Given the description of an element on the screen output the (x, y) to click on. 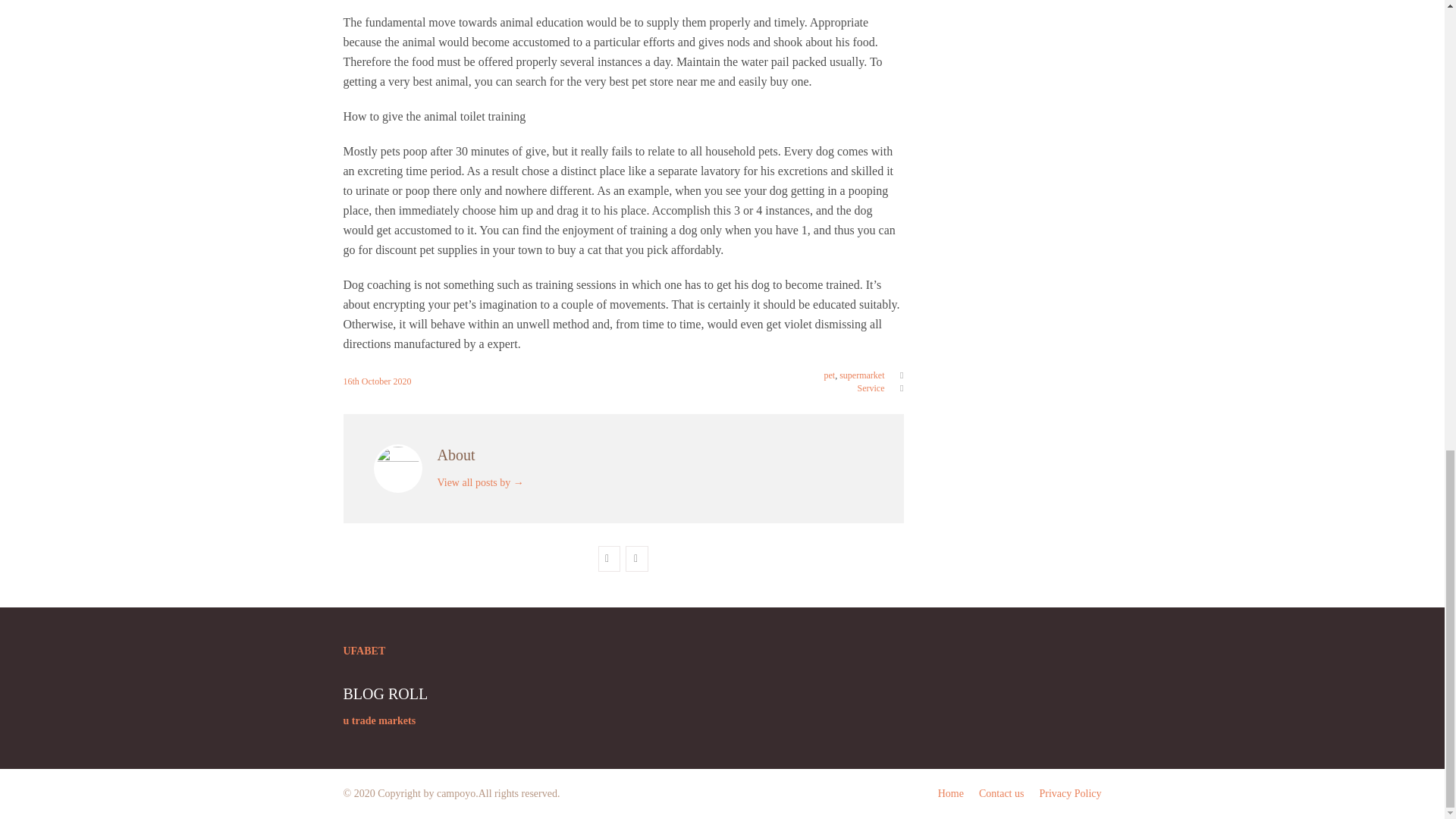
2020 (401, 380)
Home (950, 793)
Service (871, 388)
October (377, 380)
16th (351, 380)
UFABET (363, 650)
supermarket (861, 375)
Link to daily archives: October 16, 2020 (351, 380)
pet (829, 375)
Link to monthly archives: October (377, 380)
Link to yearly archives: 2020 (401, 380)
